Given the description of an element on the screen output the (x, y) to click on. 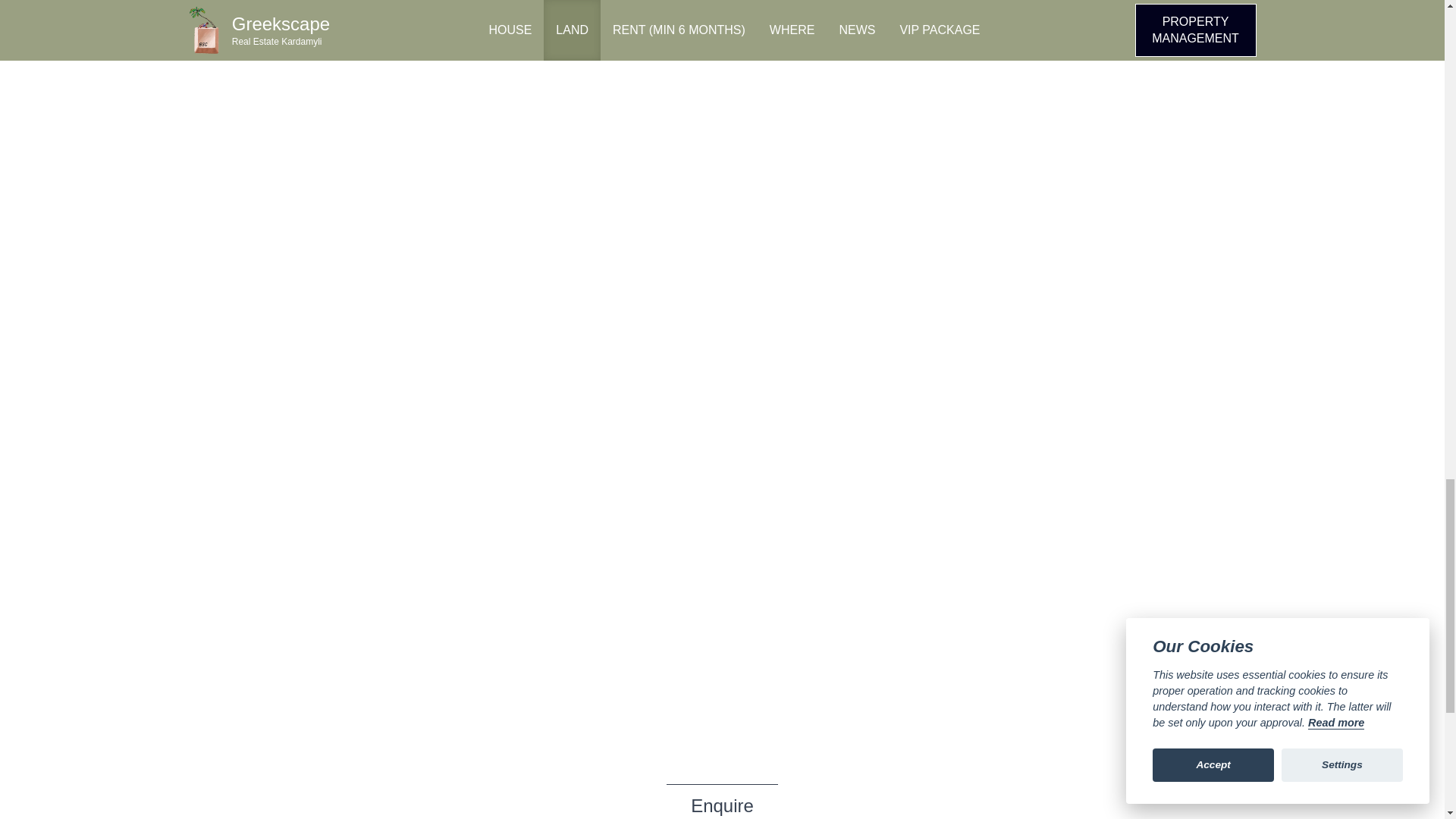
Enquire (721, 801)
